Given the description of an element on the screen output the (x, y) to click on. 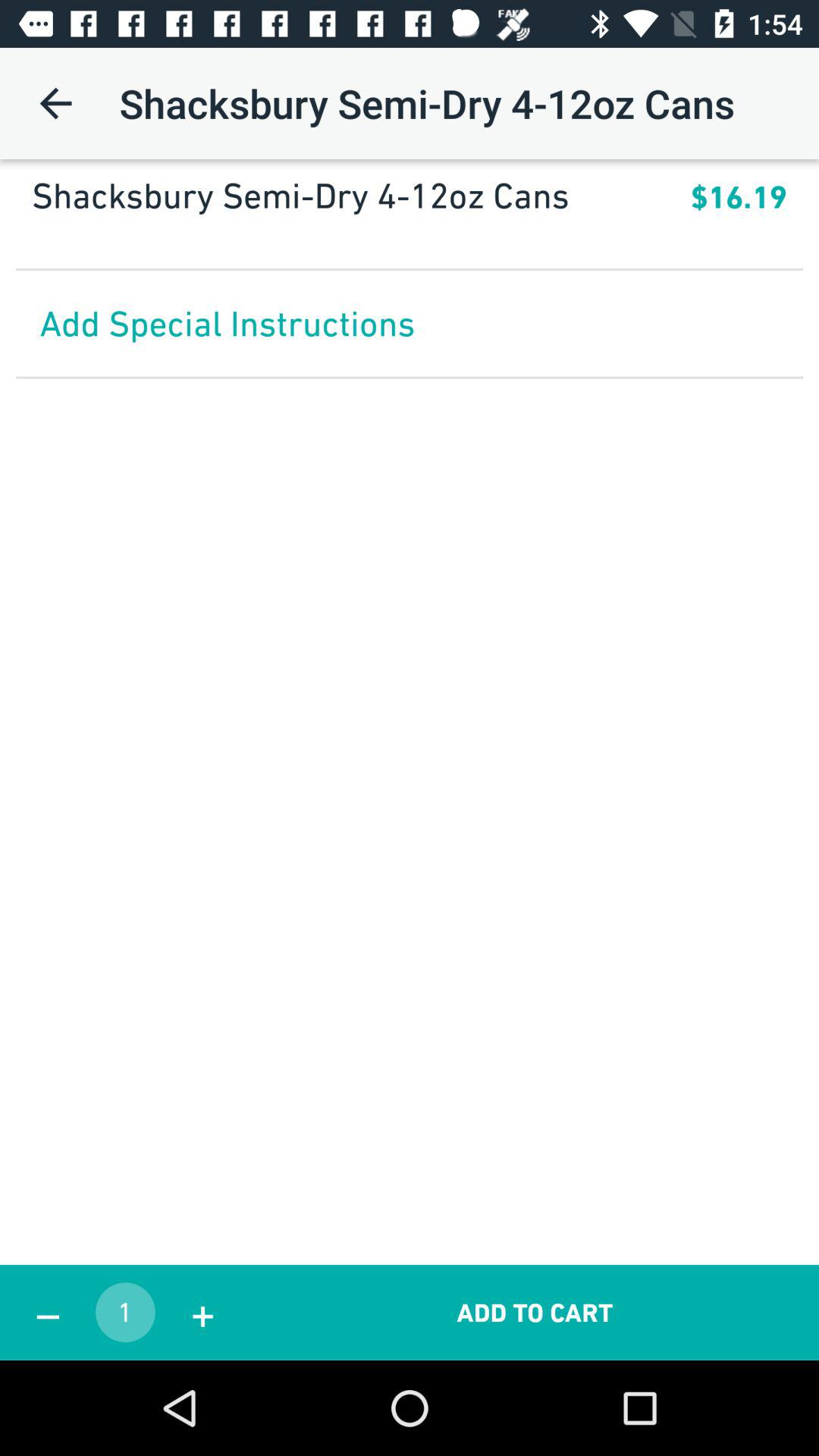
turn on item below add special instructions icon (47, 1312)
